Given the description of an element on the screen output the (x, y) to click on. 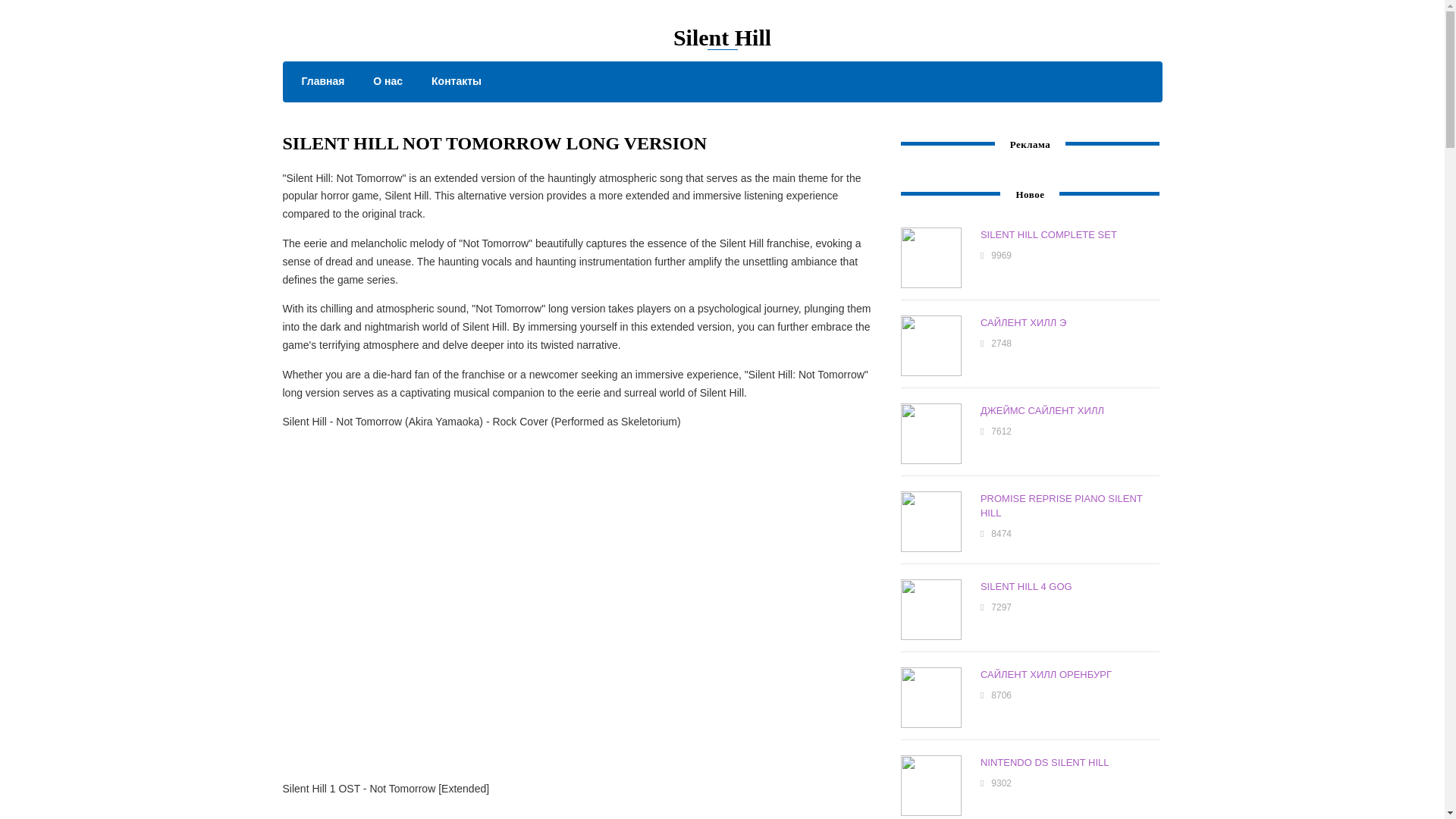
Silent Hill (721, 37)
SILENT HILL COMPLETE SET (1047, 234)
SILENT HILL 4 GOG (1025, 586)
NINTENDO DS SILENT HILL (1044, 762)
PROMISE REPRISE PIANO SILENT HILL (1060, 505)
